Given the description of an element on the screen output the (x, y) to click on. 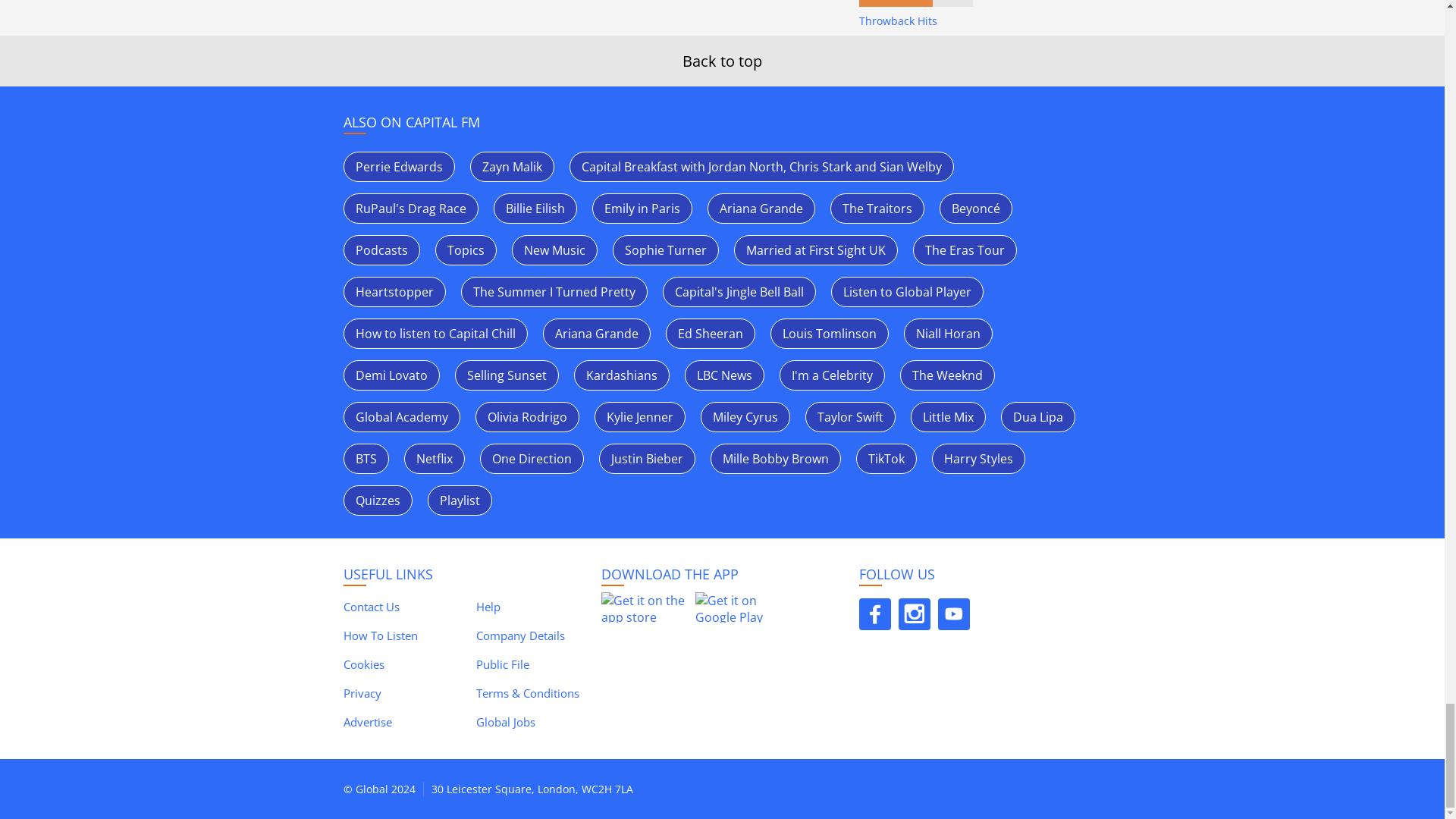
Follow Capital on Instagram (914, 613)
Follow Capital on Youtube (953, 613)
Follow Capital on Facebook (874, 613)
Back to top (721, 60)
